Given the description of an element on the screen output the (x, y) to click on. 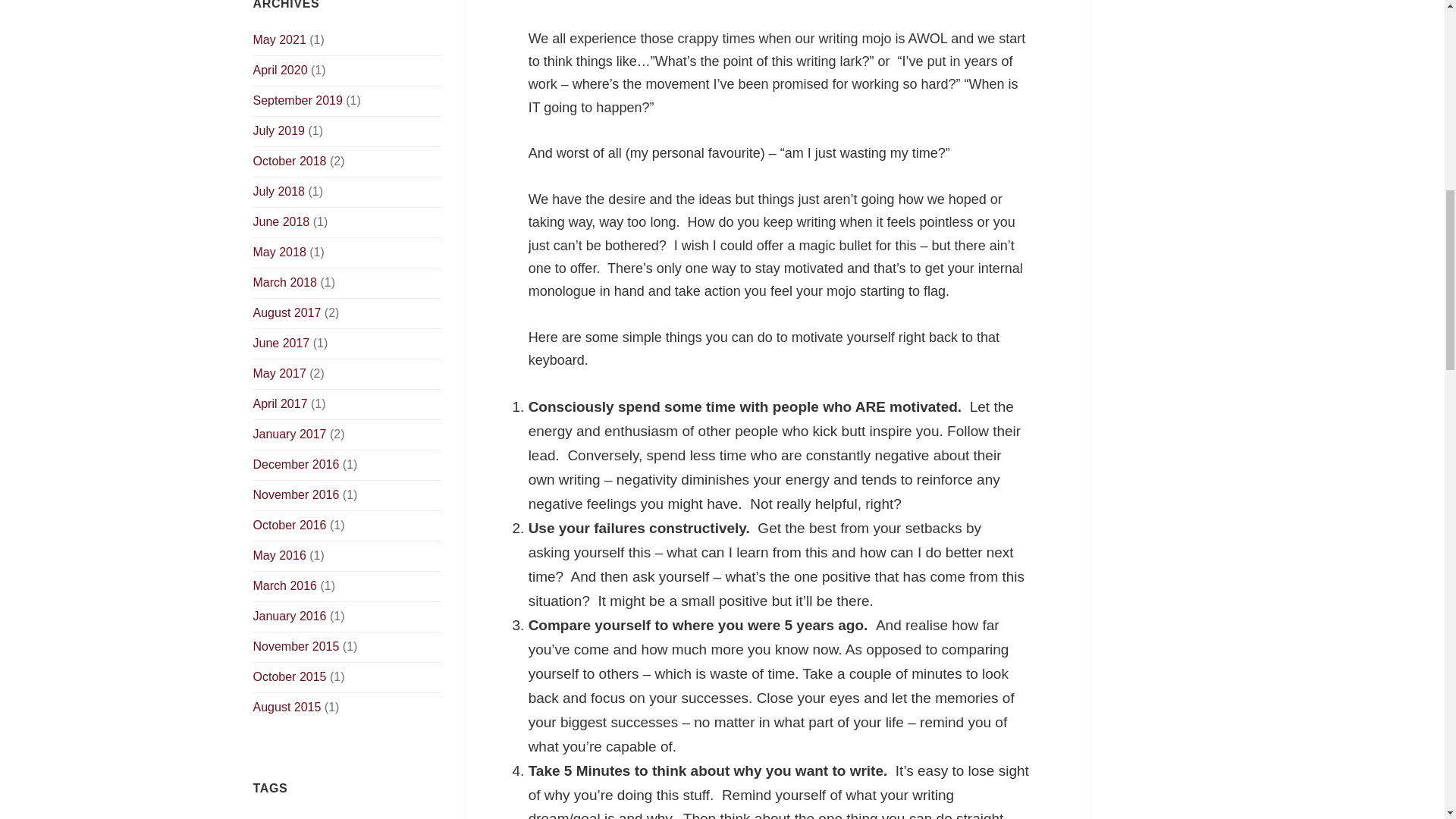
January 2017 (289, 433)
March 2018 (285, 282)
August 2015 (287, 707)
November 2015 (296, 645)
December 2016 (296, 463)
April 2020 (280, 69)
July 2018 (279, 191)
January 2016 (289, 615)
May 2021 (279, 39)
May 2017 (279, 373)
